Given the description of an element on the screen output the (x, y) to click on. 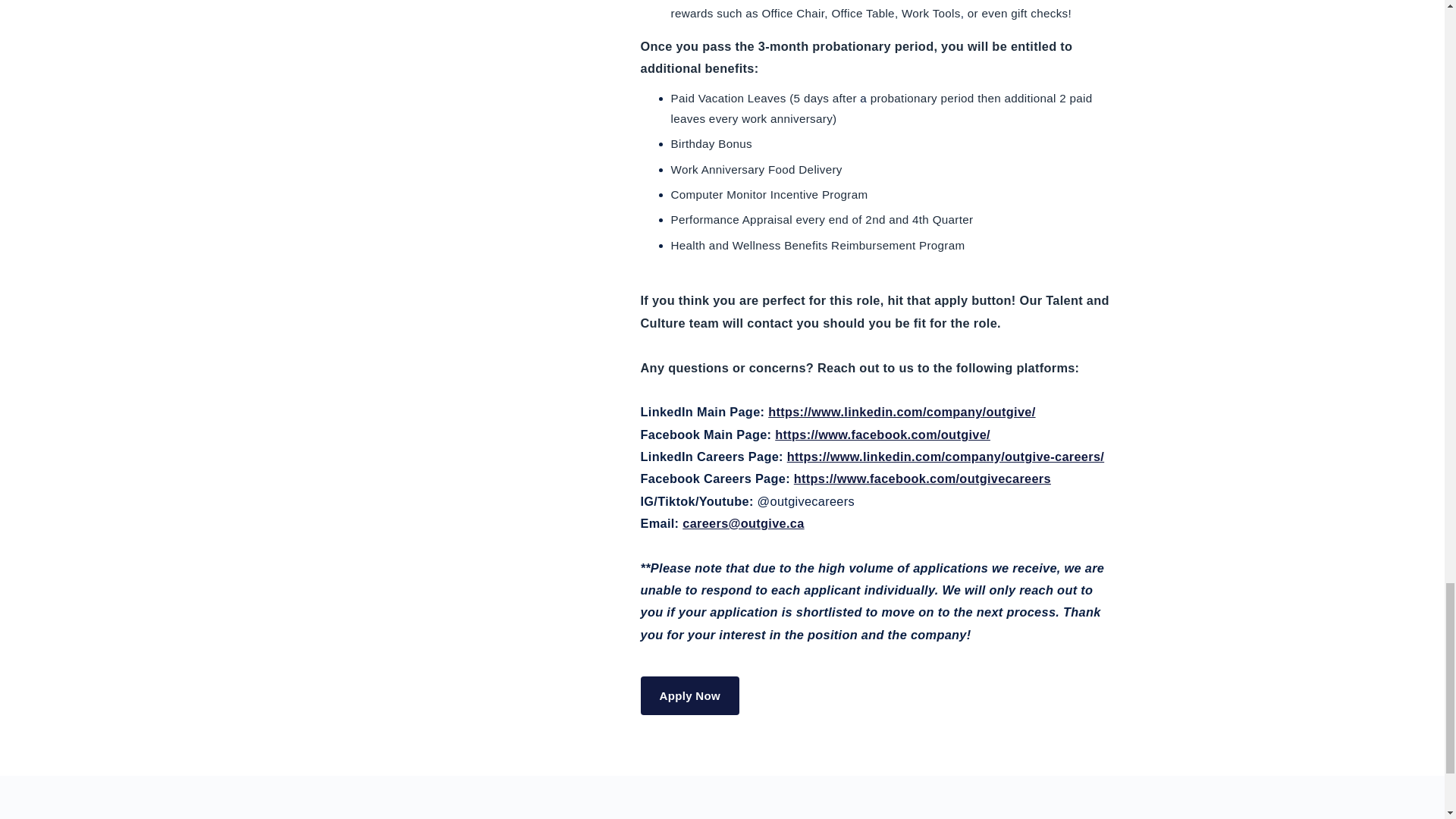
Apply Now (689, 695)
